Given the description of an element on the screen output the (x, y) to click on. 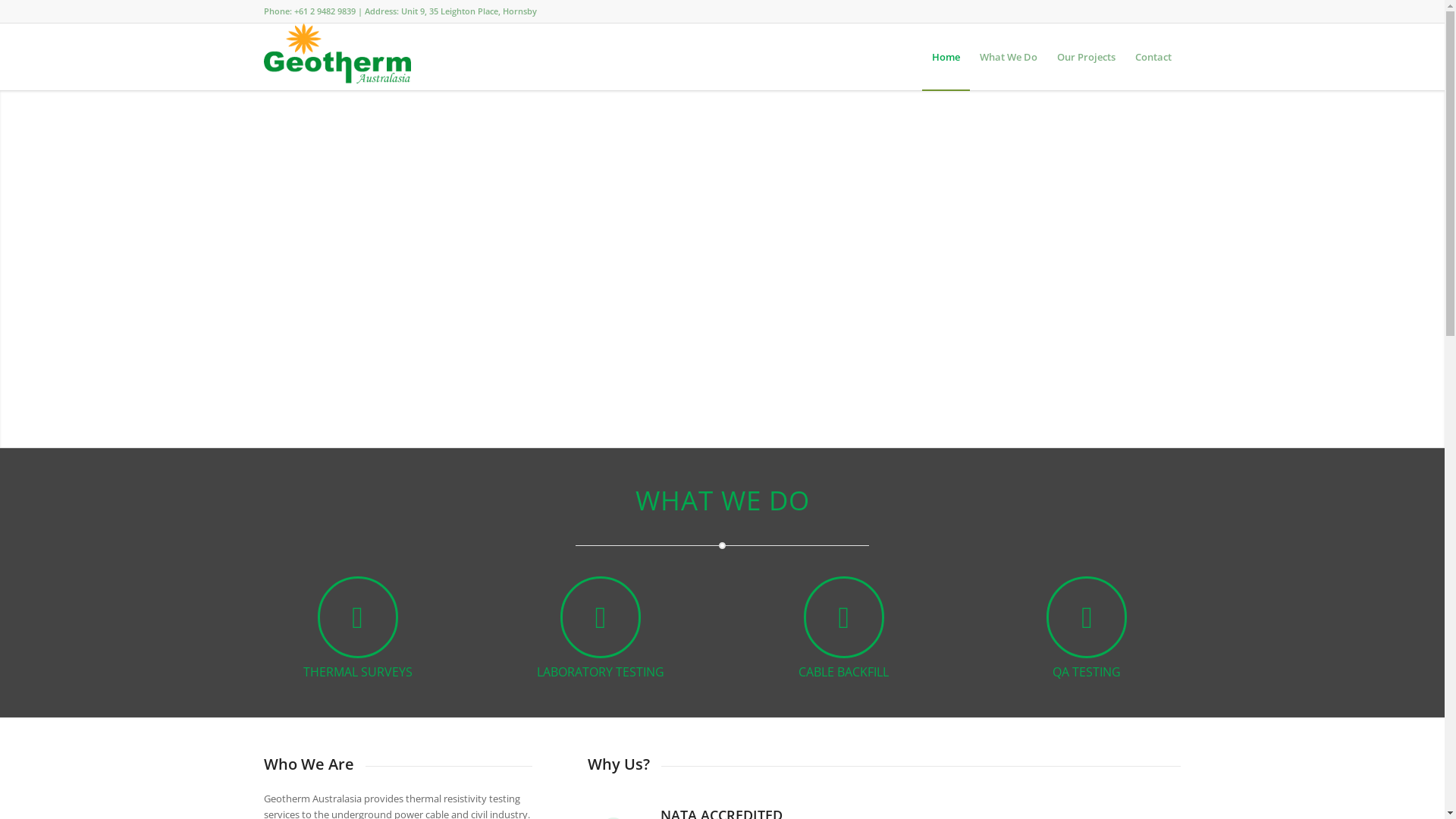
Contact Element type: text (1153, 56)
Home Element type: text (945, 56)
What We Do Element type: text (1007, 56)
Our Projects Element type: text (1085, 56)
